Given the description of an element on the screen output the (x, y) to click on. 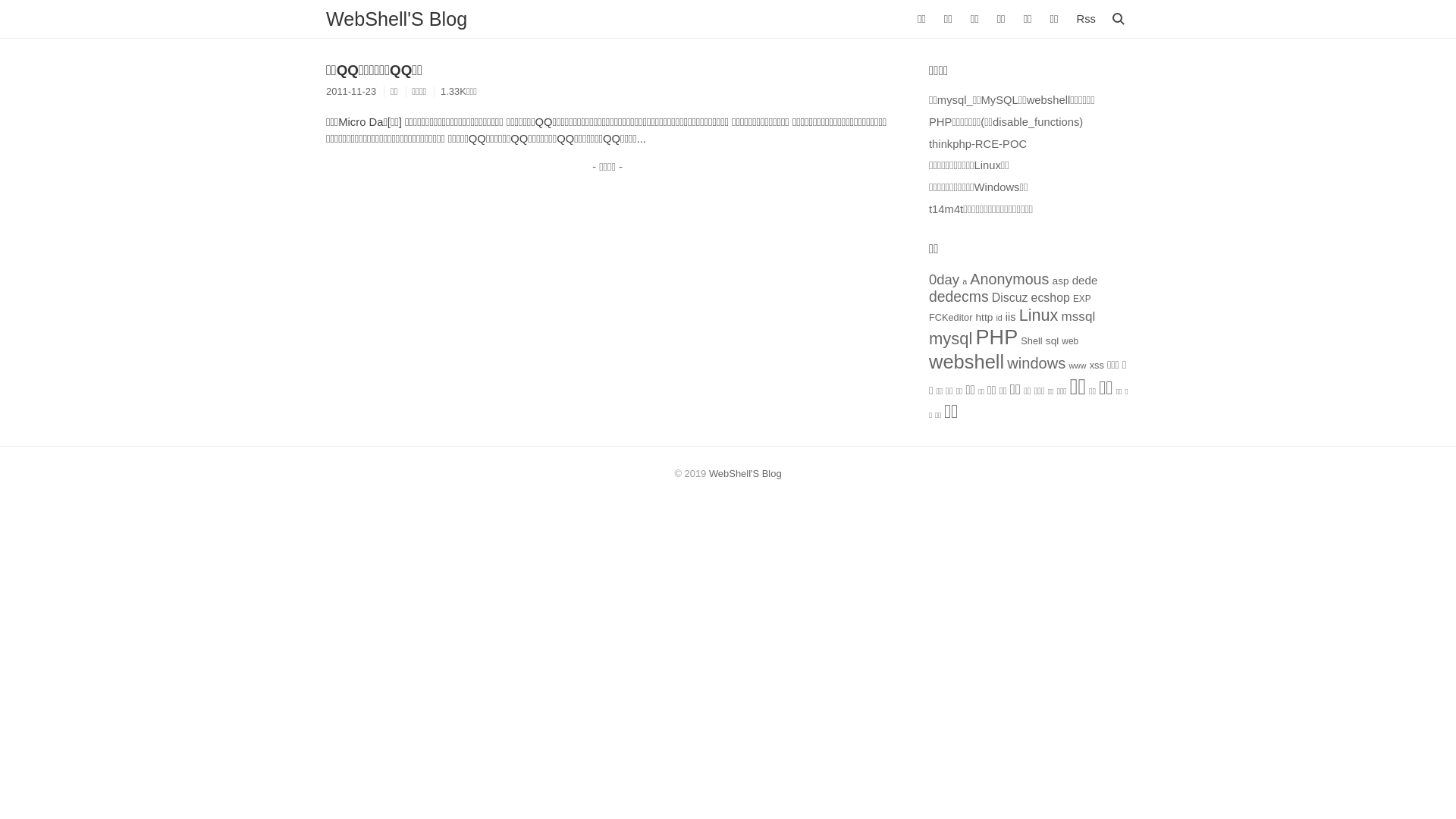
Shell Element type: text (1030, 340)
mysql Element type: text (950, 338)
0day Element type: text (943, 279)
EXP Element type: text (1082, 298)
WebShell'S Blog Element type: text (745, 473)
Linux Element type: text (1038, 314)
windows Element type: text (1036, 362)
xss Element type: text (1096, 364)
FCKeditor Element type: text (950, 317)
asp Element type: text (1060, 279)
id Element type: text (998, 317)
sql Element type: text (1051, 340)
dedecms Element type: text (958, 296)
mssql Element type: text (1078, 316)
www Element type: text (1076, 365)
Rss Element type: text (1085, 18)
dede Element type: text (1085, 279)
PHP Element type: text (996, 337)
http Element type: text (984, 317)
Discuz Element type: text (1009, 297)
web Element type: text (1069, 340)
WebShell'S Blog Element type: text (396, 18)
webshell Element type: text (966, 361)
ecshop Element type: text (1050, 297)
a Element type: text (964, 280)
iis Element type: text (1010, 316)
thinkphp-RCE-POC Element type: text (977, 144)
Anonymous Element type: text (1008, 277)
